Given the description of an element on the screen output the (x, y) to click on. 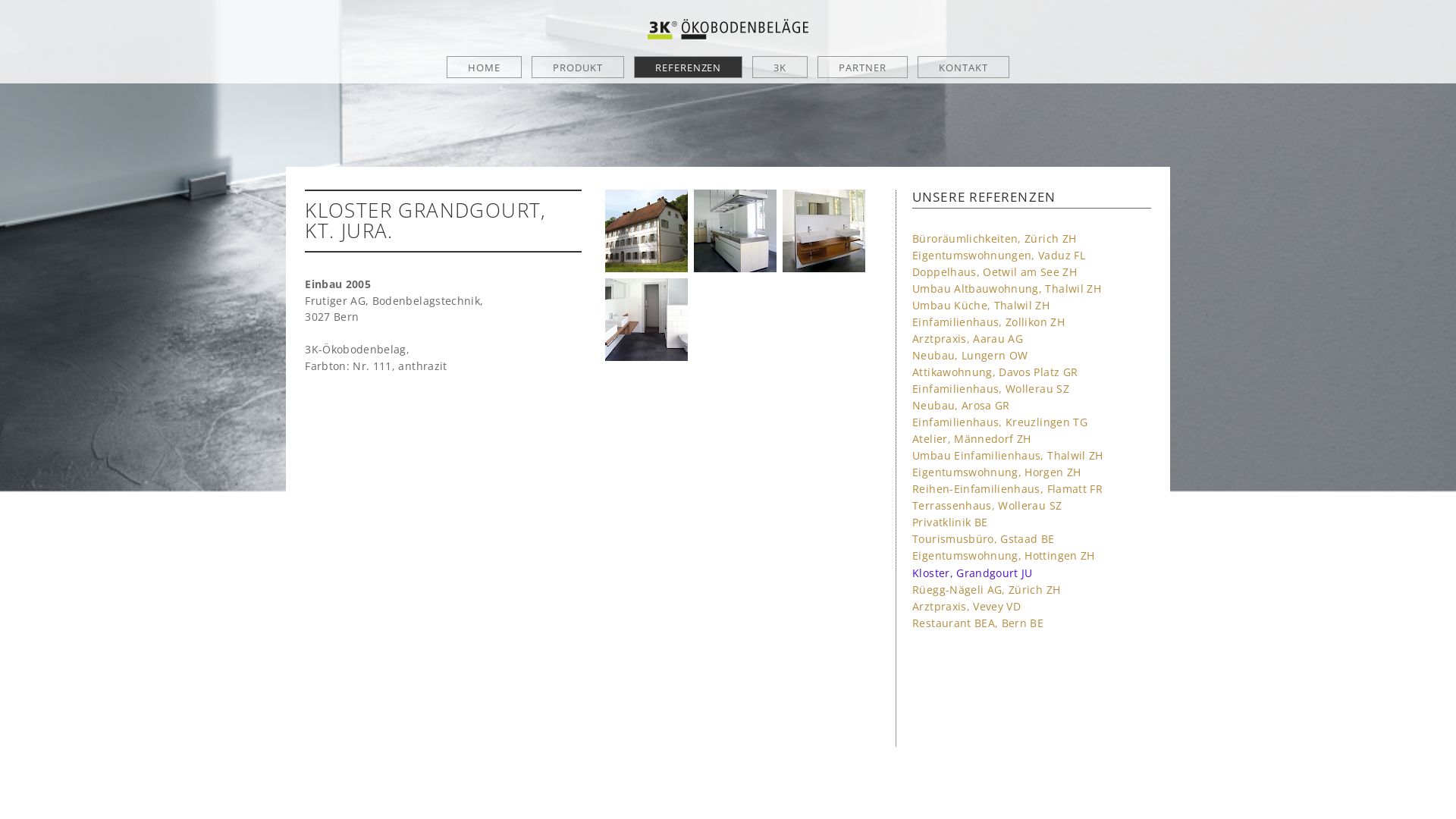
HOME Element type: text (483, 67)
PRODUKT Element type: text (577, 67)
3K Element type: text (779, 67)
Eigentumswohnung, Hottingen ZH Element type: text (1003, 555)
Arztpraxis, Aarau AG Element type: text (967, 338)
Eigentumswohnung, Horgen ZH Element type: text (996, 471)
Neubau, Arosa GR Element type: text (961, 405)
Reihen-Einfamilienhaus, Flamatt FR Element type: text (1007, 488)
Doppelhaus, Oetwil am See ZH Element type: text (994, 271)
Restaurant BEA, Bern BE Element type: text (977, 622)
Umbau Einfamilienhaus, Thalwil ZH Element type: text (1007, 455)
KONTAKT Element type: text (963, 67)
REFERENZEN Element type: text (688, 67)
Attikawohnung, Davos Platz GR Element type: text (994, 371)
Eigentumswohnungen, Vaduz FL Element type: text (998, 254)
Neubau, Lungern OW Element type: text (969, 355)
Einfamilienhaus, Zollikon ZH Element type: text (988, 321)
Umbau Altbauwohnung, Thalwil ZH Element type: text (1006, 288)
Terrassenhaus, Wollerau SZ Element type: text (986, 505)
Arztpraxis, Vevey VD Element type: text (966, 606)
Privatklinik BE Element type: text (949, 521)
Einfamilienhaus, Wollerau SZ Element type: text (990, 388)
Kloster, Grandgourt JU Element type: text (972, 572)
Einfamilienhaus, Kreuzlingen TG Element type: text (999, 421)
PARTNER Element type: text (862, 67)
